Given the description of an element on the screen output the (x, y) to click on. 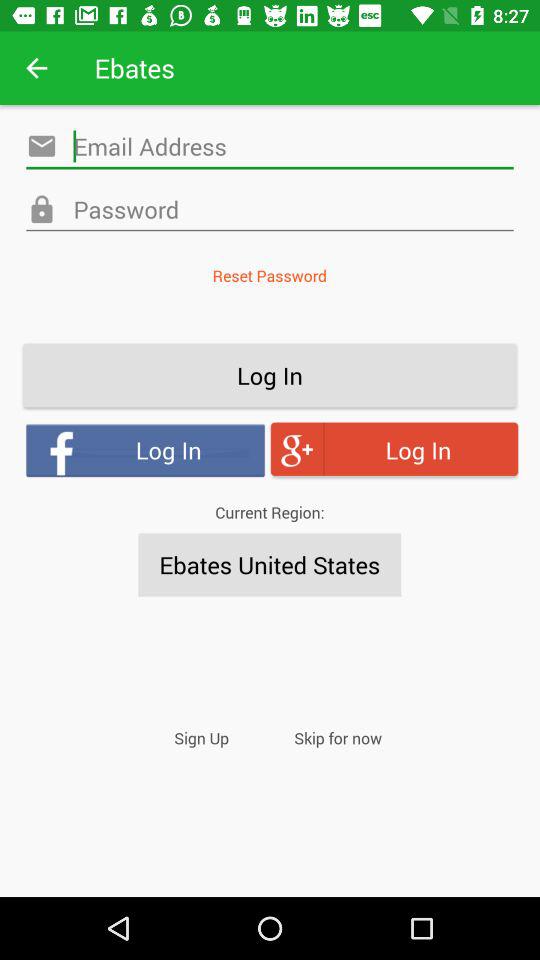
swipe to the reset password (269, 275)
